Given the description of an element on the screen output the (x, y) to click on. 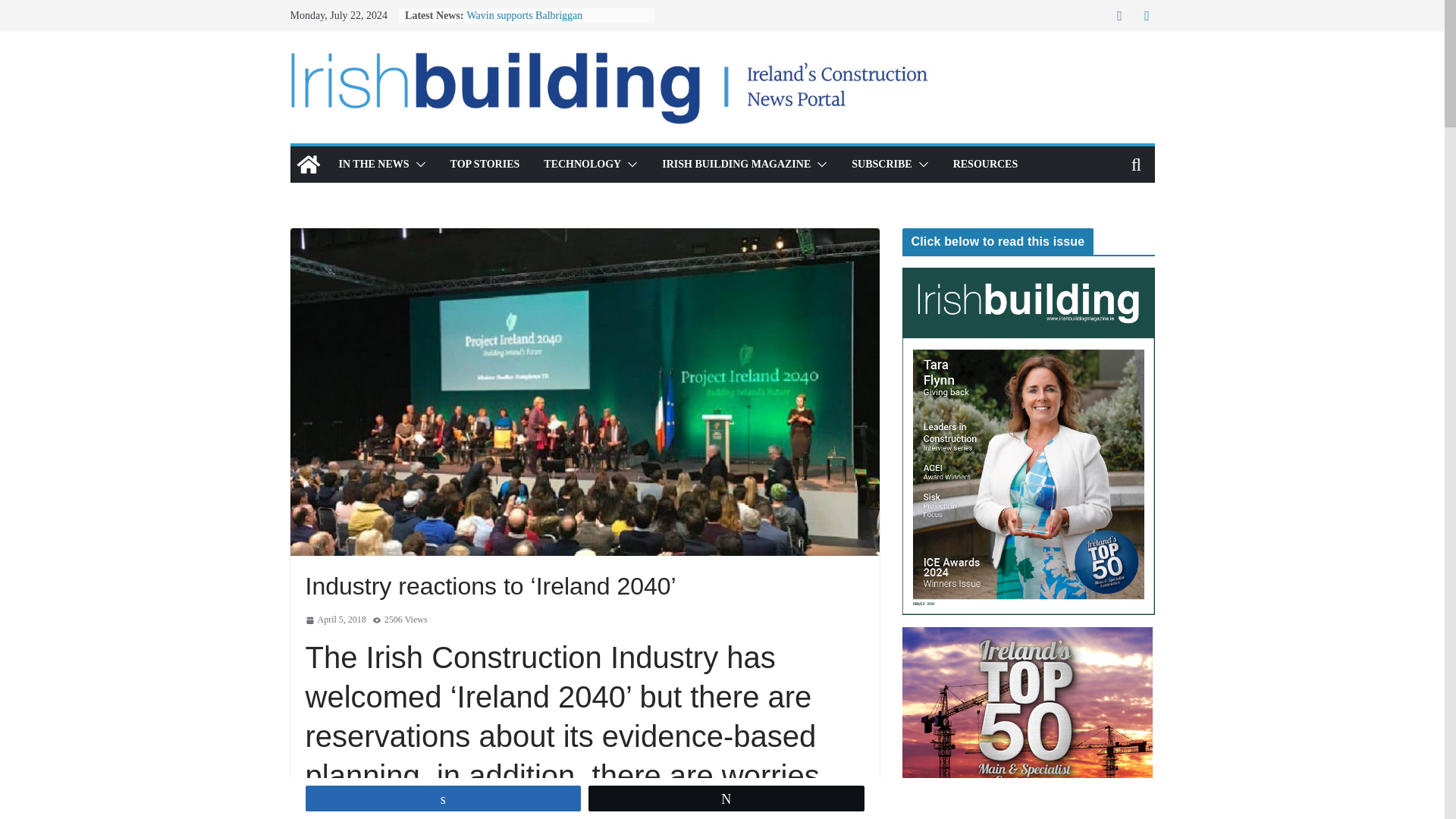
RESOURCES (985, 164)
IRISH BUILDING MAGAZINE (736, 164)
April 5, 2018 (334, 619)
IN THE NEWS (373, 164)
Irish building magazine (307, 164)
TOP STORIES (484, 164)
TECHNOLOGY (582, 164)
9:10 am (334, 619)
SUBSCRIBE (881, 164)
